Given the description of an element on the screen output the (x, y) to click on. 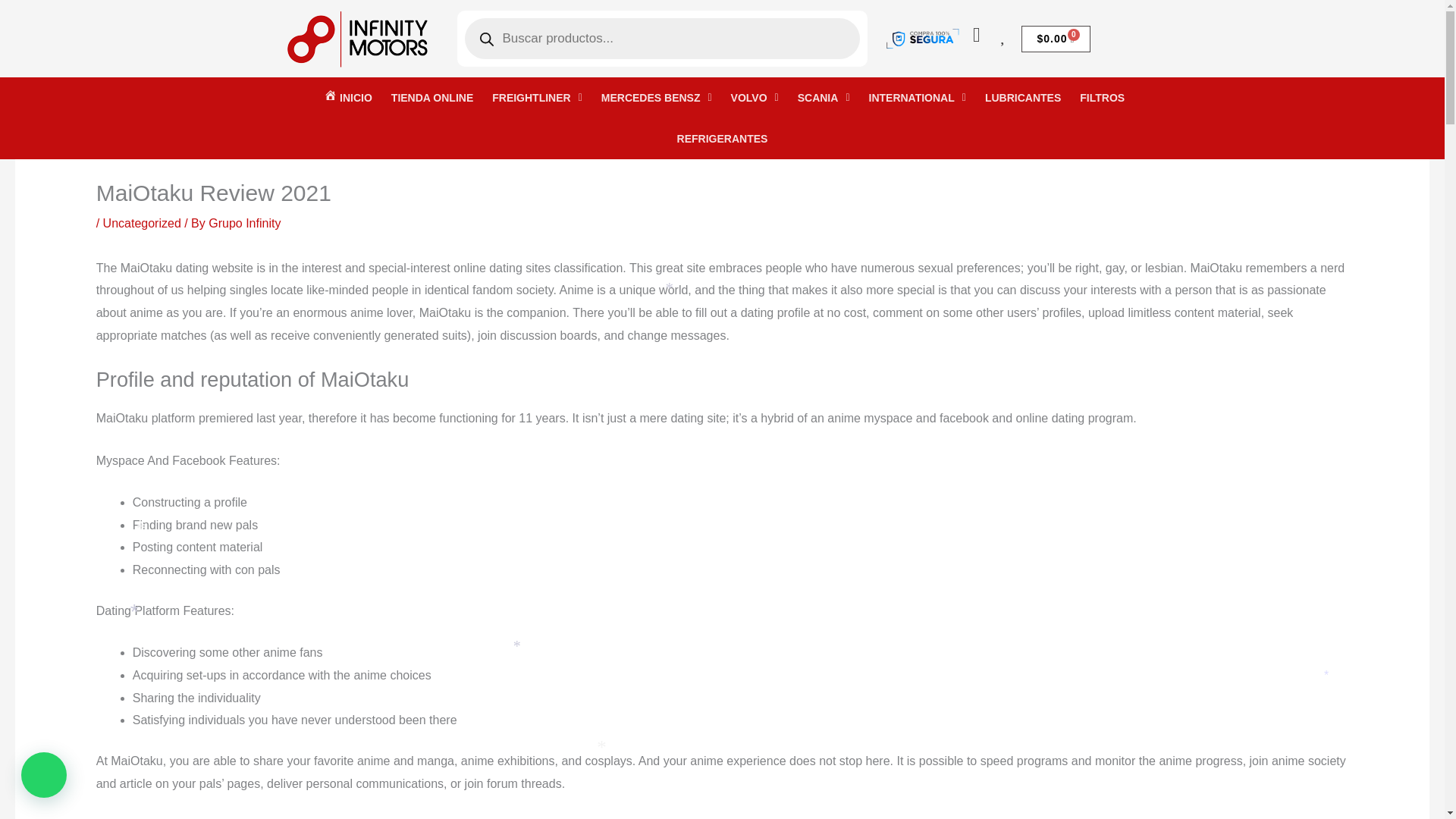
View all posts by Grupo Infinity (244, 223)
